Given the description of an element on the screen output the (x, y) to click on. 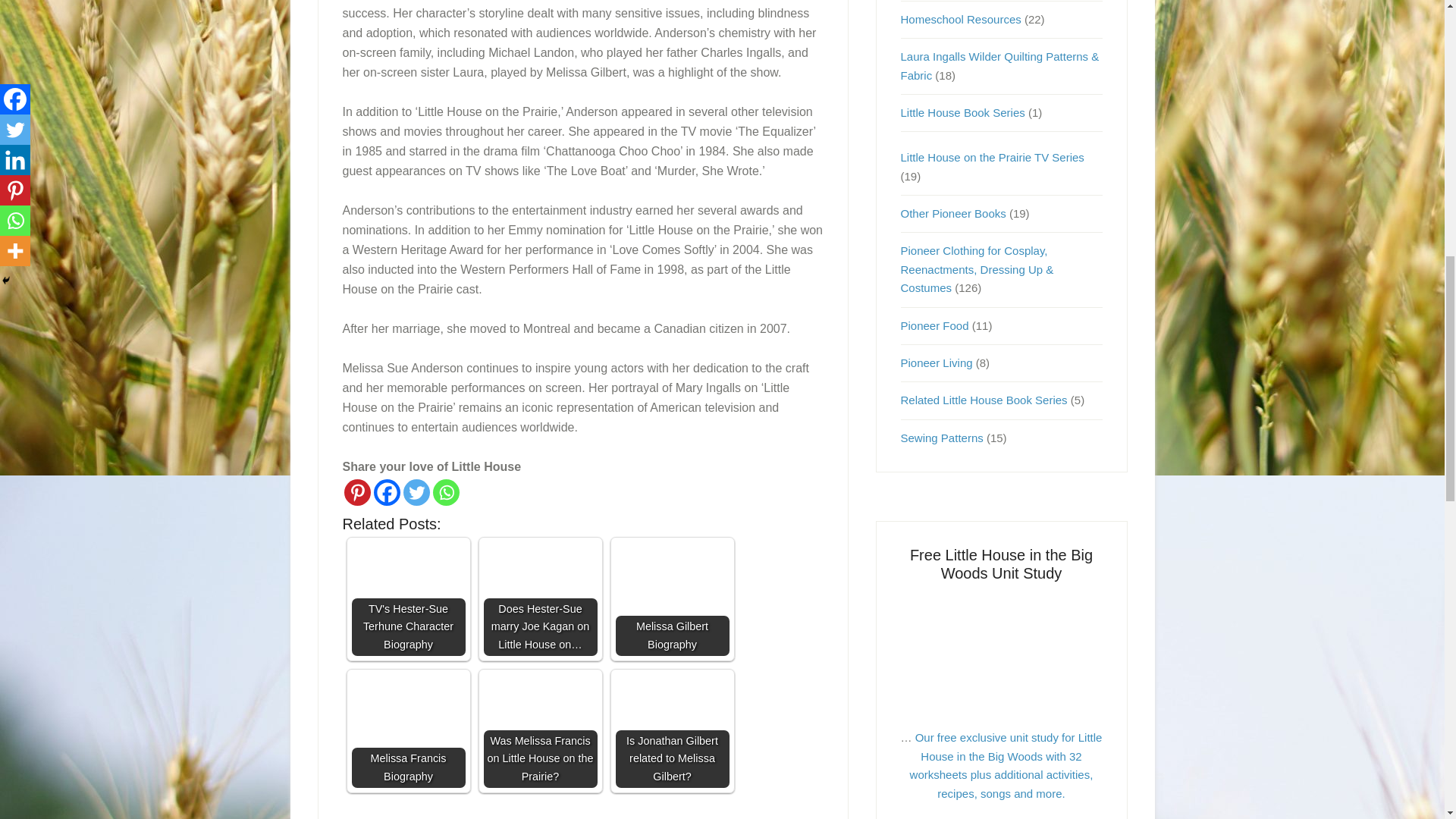
Twitter (416, 492)
Facebook (385, 492)
Whatsapp (445, 492)
Pinterest (357, 492)
TV's Hester-Sue Terhune Character Biography (408, 599)
